Given the description of an element on the screen output the (x, y) to click on. 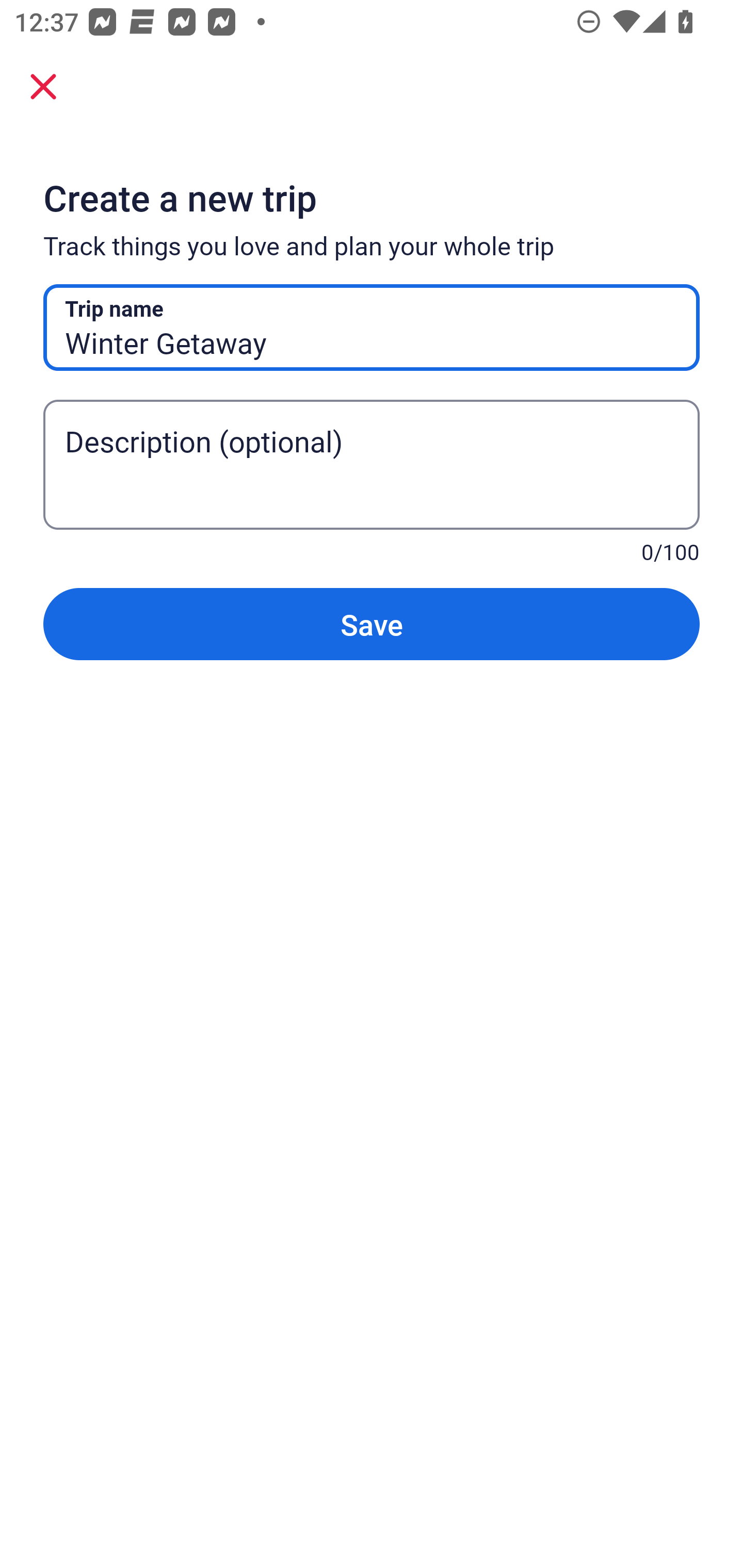
Close (43, 86)
Winter Getaway Trip name Trip name (371, 327)
Save Button Save (371, 624)
